Given the description of an element on the screen output the (x, y) to click on. 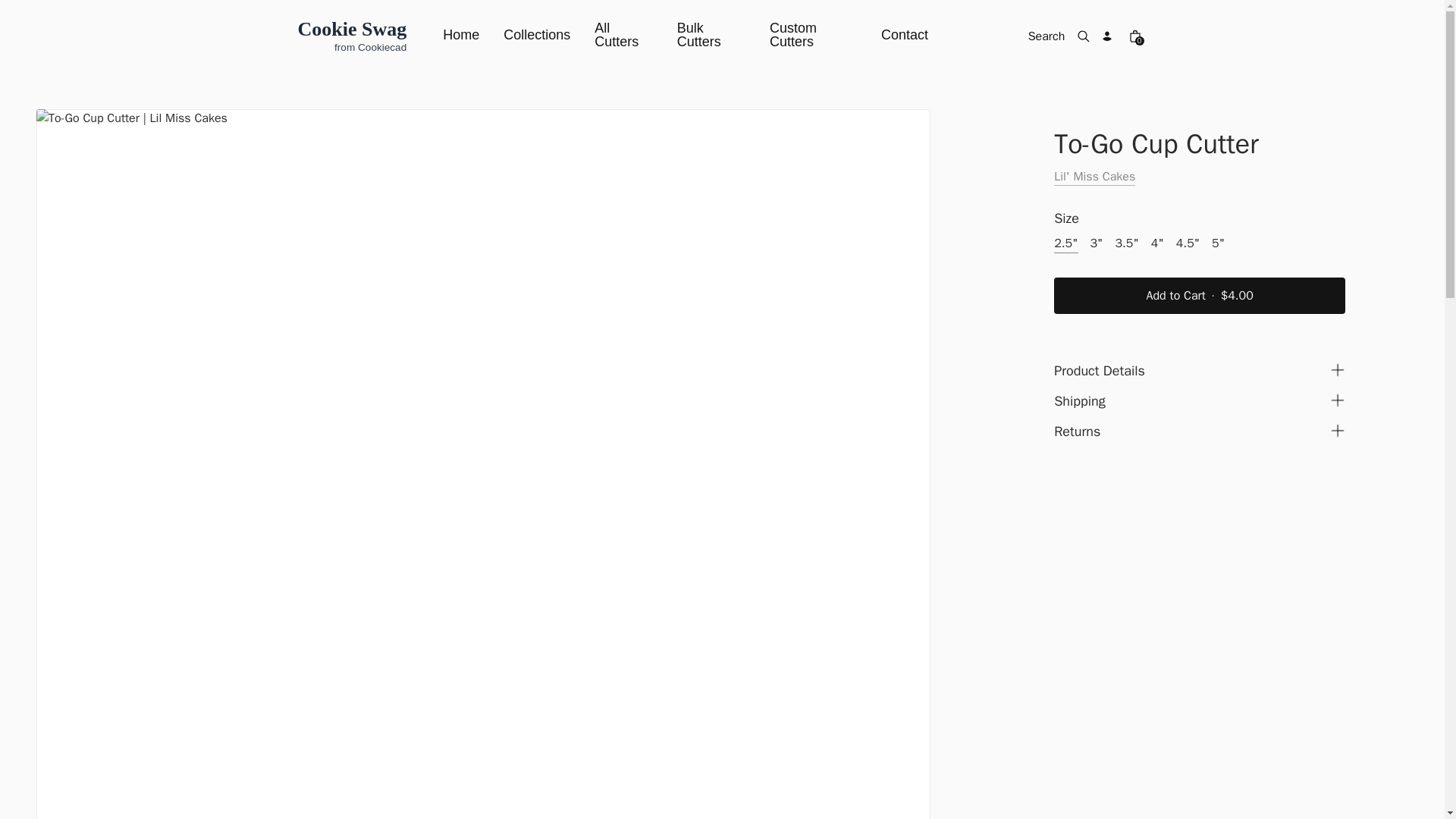
Custom Cutters (813, 36)
2.5" (1065, 243)
Product Details (1199, 371)
Bulk Cutters (711, 36)
4.5" (1187, 243)
Contact (904, 36)
All Cutters (623, 36)
Returns (1199, 432)
0 (1134, 36)
